Given the description of an element on the screen output the (x, y) to click on. 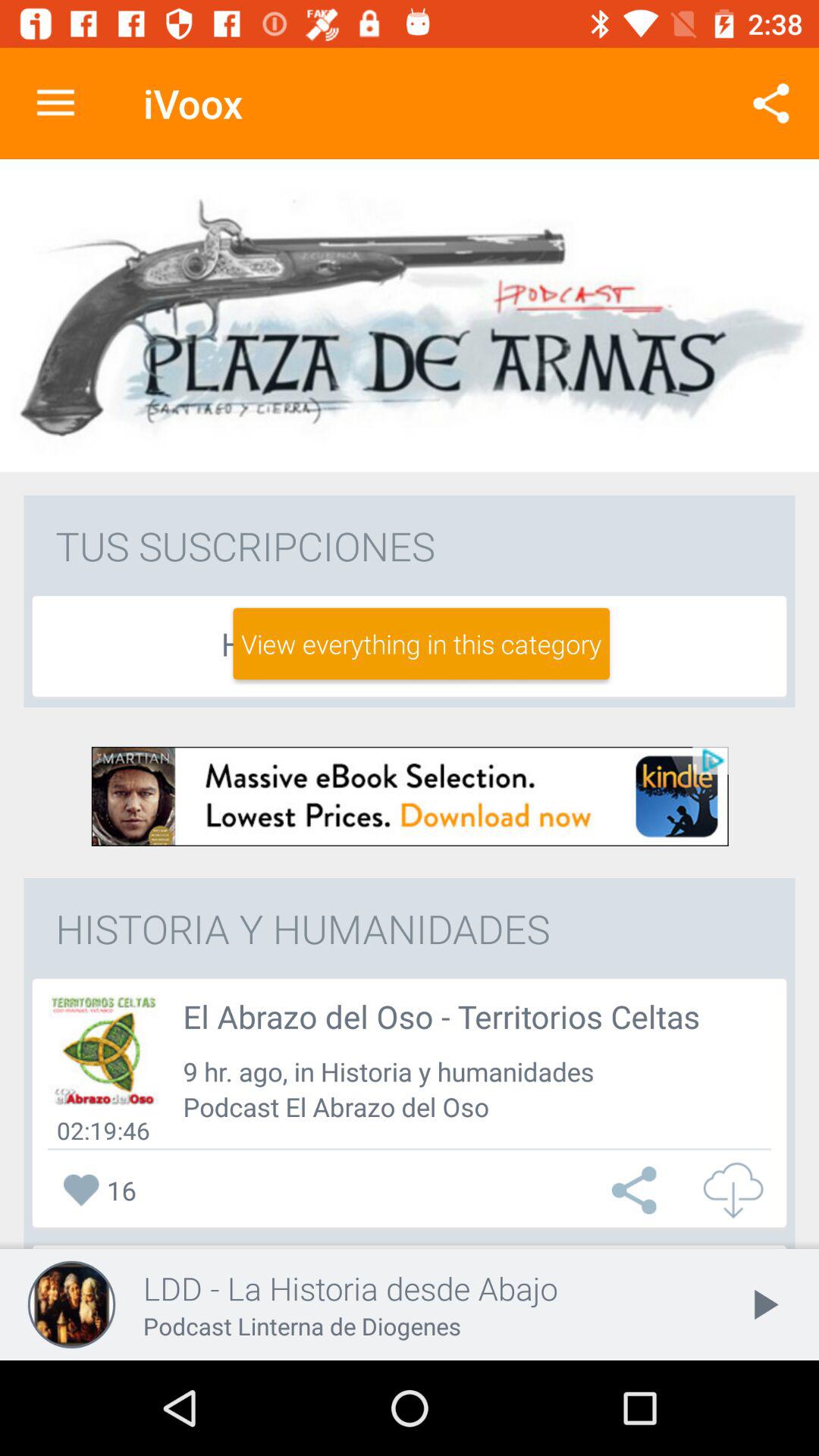
download (409, 796)
